Given the description of an element on the screen output the (x, y) to click on. 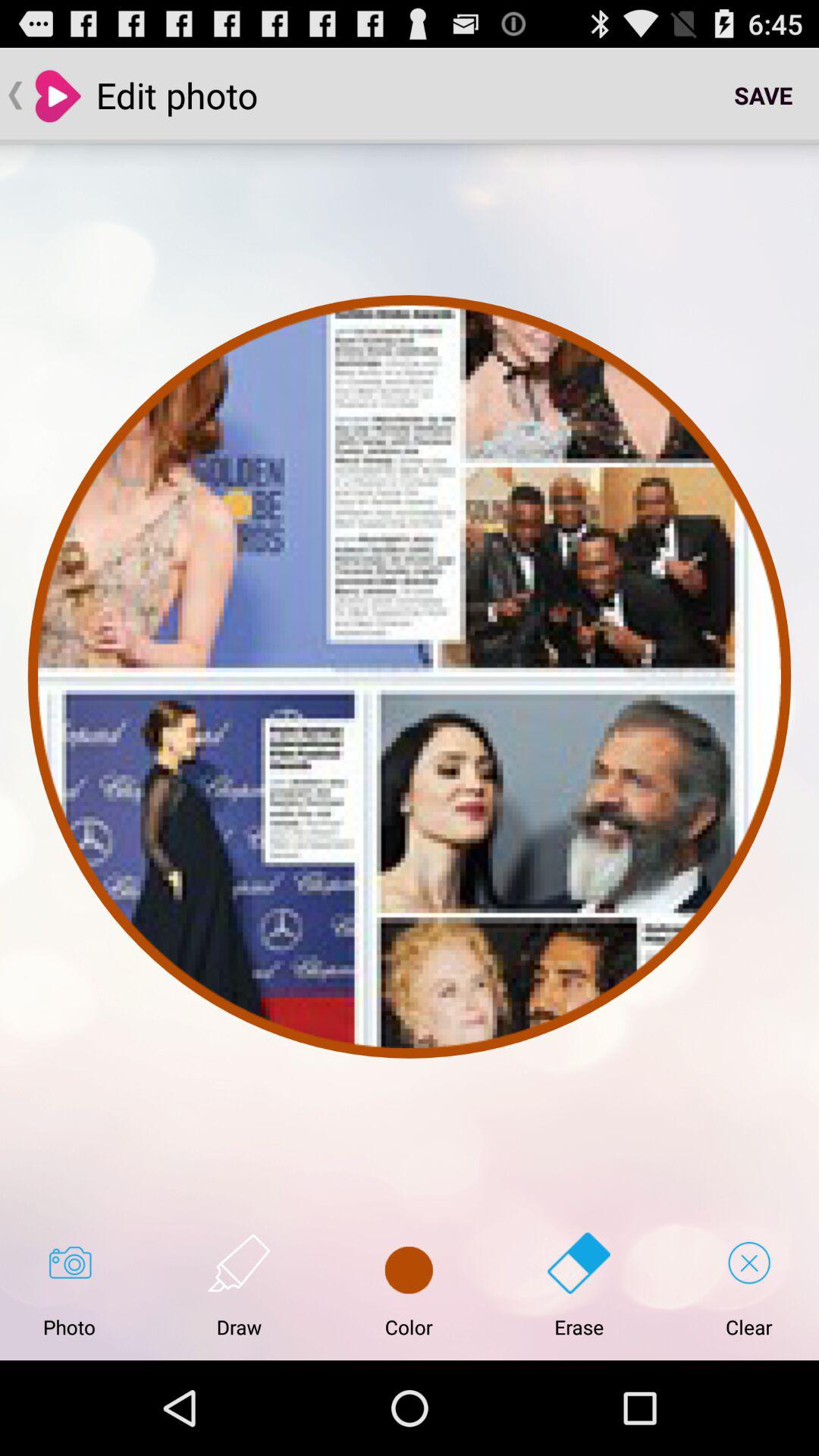
tap the button next to erase item (408, 1285)
